Given the description of an element on the screen output the (x, y) to click on. 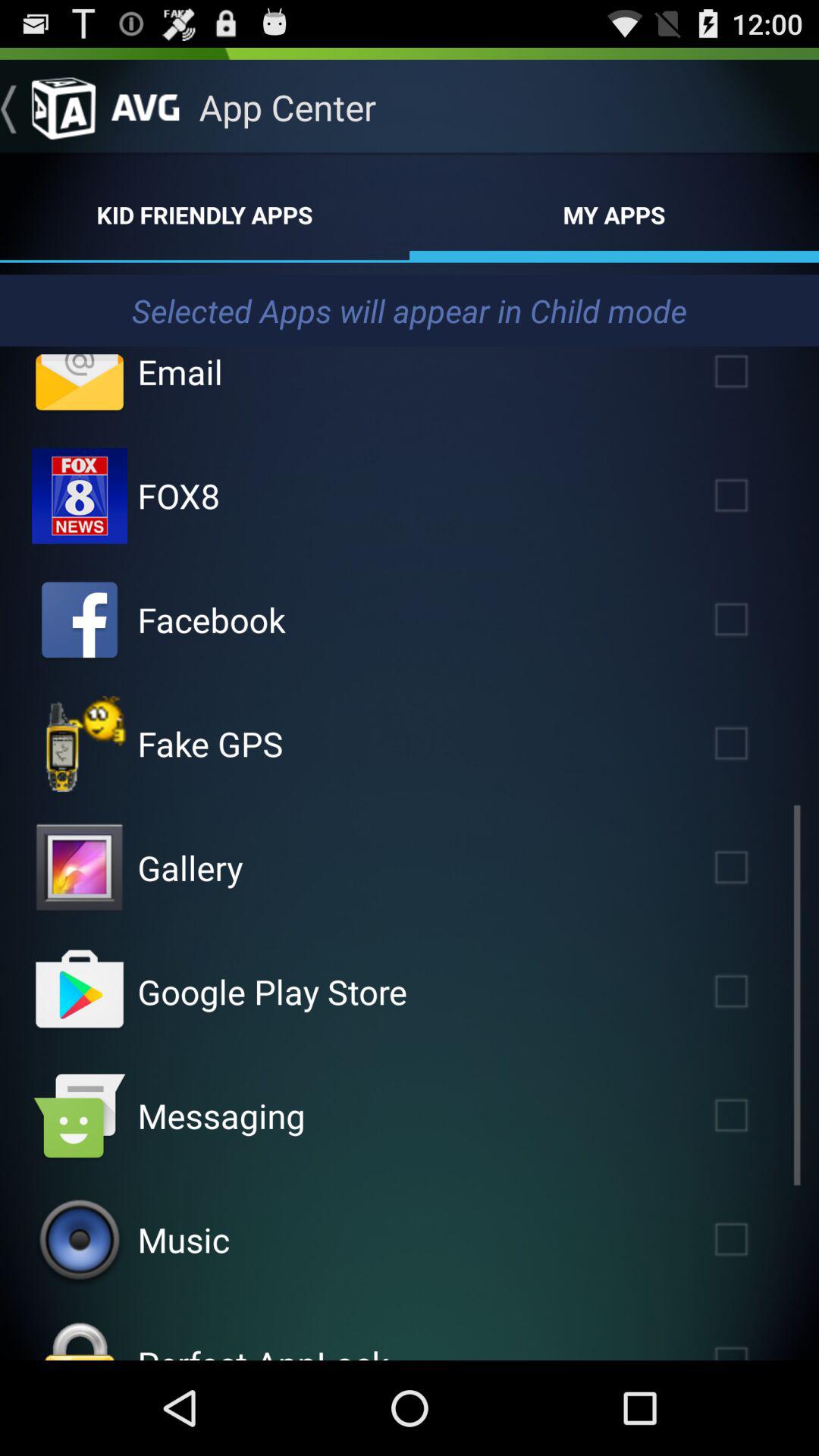
check email (79, 382)
